Given the description of an element on the screen output the (x, y) to click on. 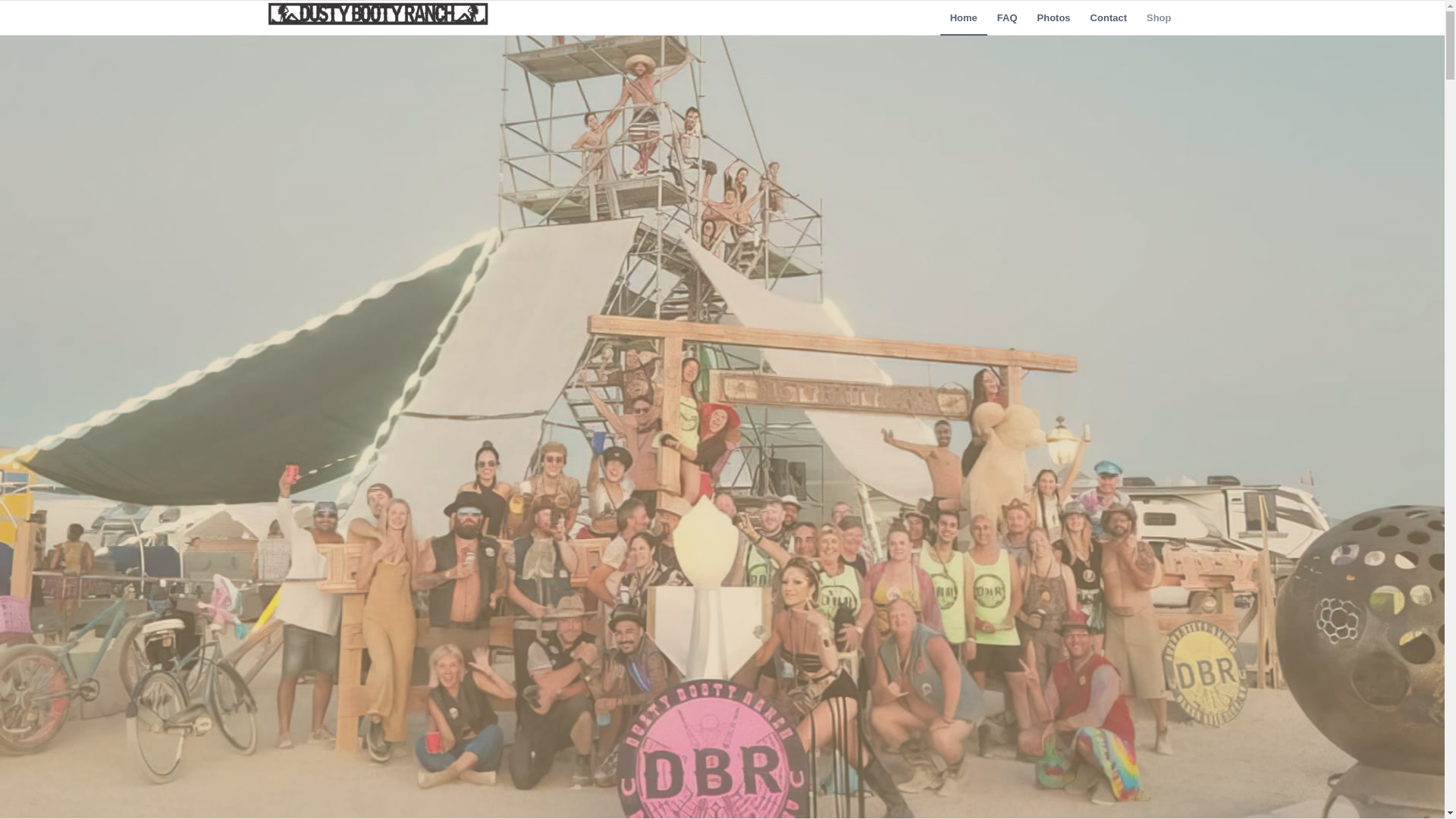
Shop (1158, 17)
Contact (1108, 17)
Photos (1053, 17)
Home (963, 17)
FAQ (1007, 17)
